Given the description of an element on the screen output the (x, y) to click on. 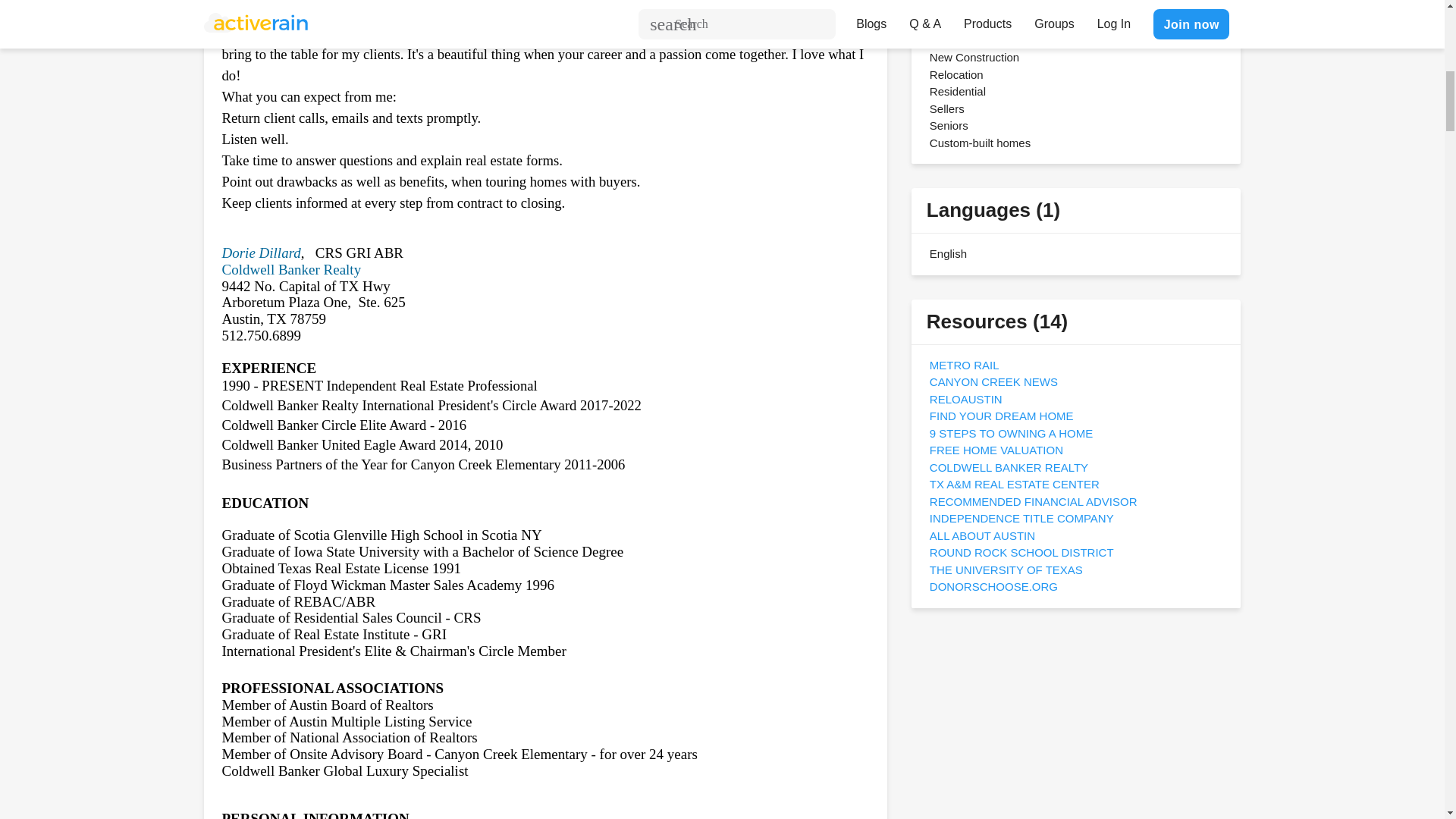
All About Austin (982, 535)
Coldwell Banker Realty (291, 269)
Metro Rail (964, 364)
Round Rock School District (1021, 552)
Dorie Dillard (260, 252)
Coldwell Banker Realty (1008, 467)
9 Steps To Owning A Home (1011, 431)
Free Home Valuation (996, 449)
Canyon Creek News (994, 381)
ReloAustin (966, 399)
Independence Title Company (1021, 517)
Find Your Dream Home (1002, 415)
The University of Texas (1006, 568)
Recommended Financial Advisor (1033, 500)
